Given the description of an element on the screen output the (x, y) to click on. 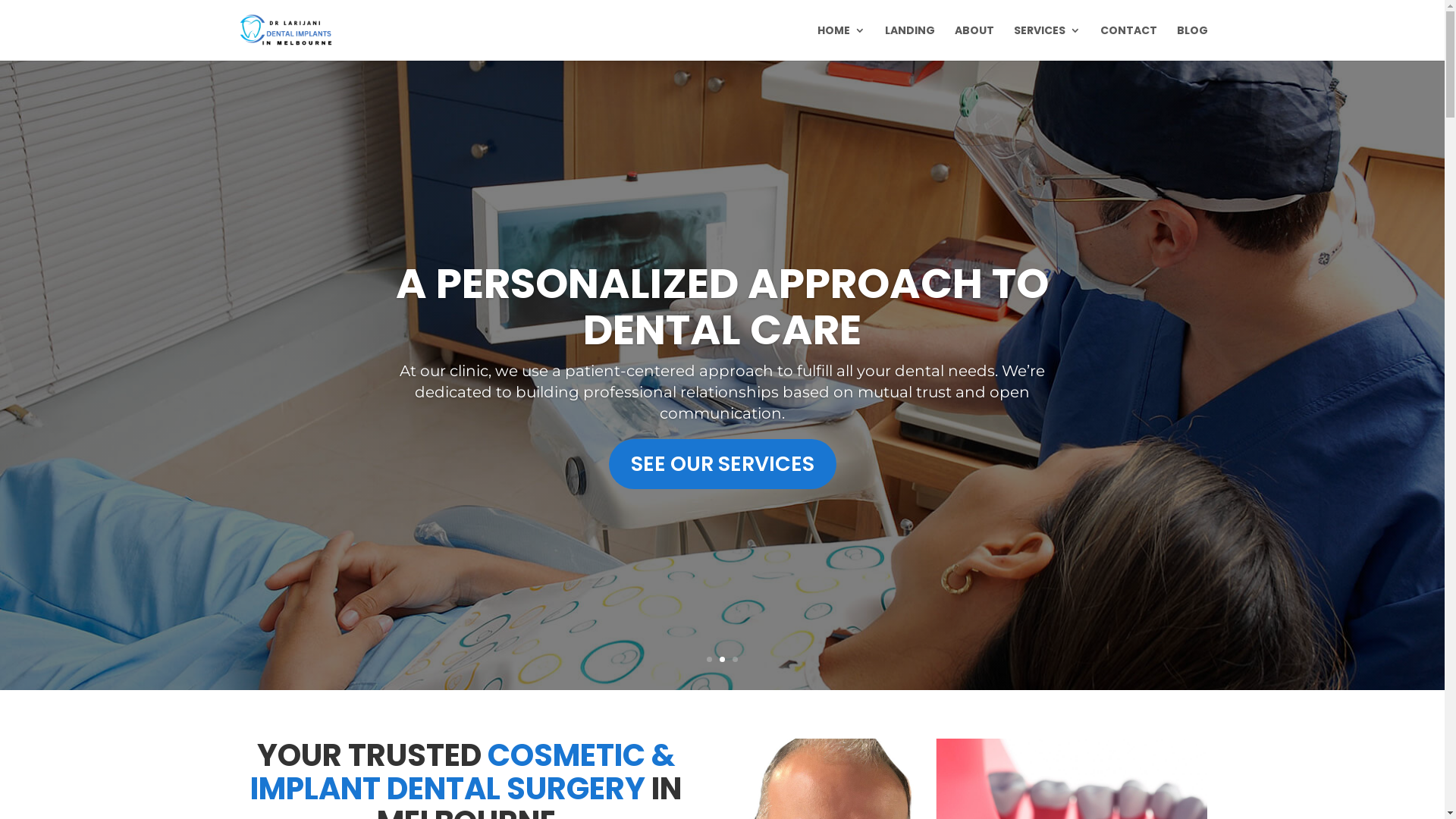
BLOG Element type: text (1192, 42)
LANDING Element type: text (909, 42)
SERVICES Element type: text (1046, 42)
HOME Element type: text (841, 42)
A PERSONALIZED APPROACH TO DENTAL CARE Element type: text (721, 306)
SEE OUR SERVICES Element type: text (721, 464)
ABOUT Element type: text (973, 42)
3 Element type: text (734, 659)
1 Element type: text (709, 659)
2 Element type: text (721, 659)
CONTACT Element type: text (1127, 42)
